Given the description of an element on the screen output the (x, y) to click on. 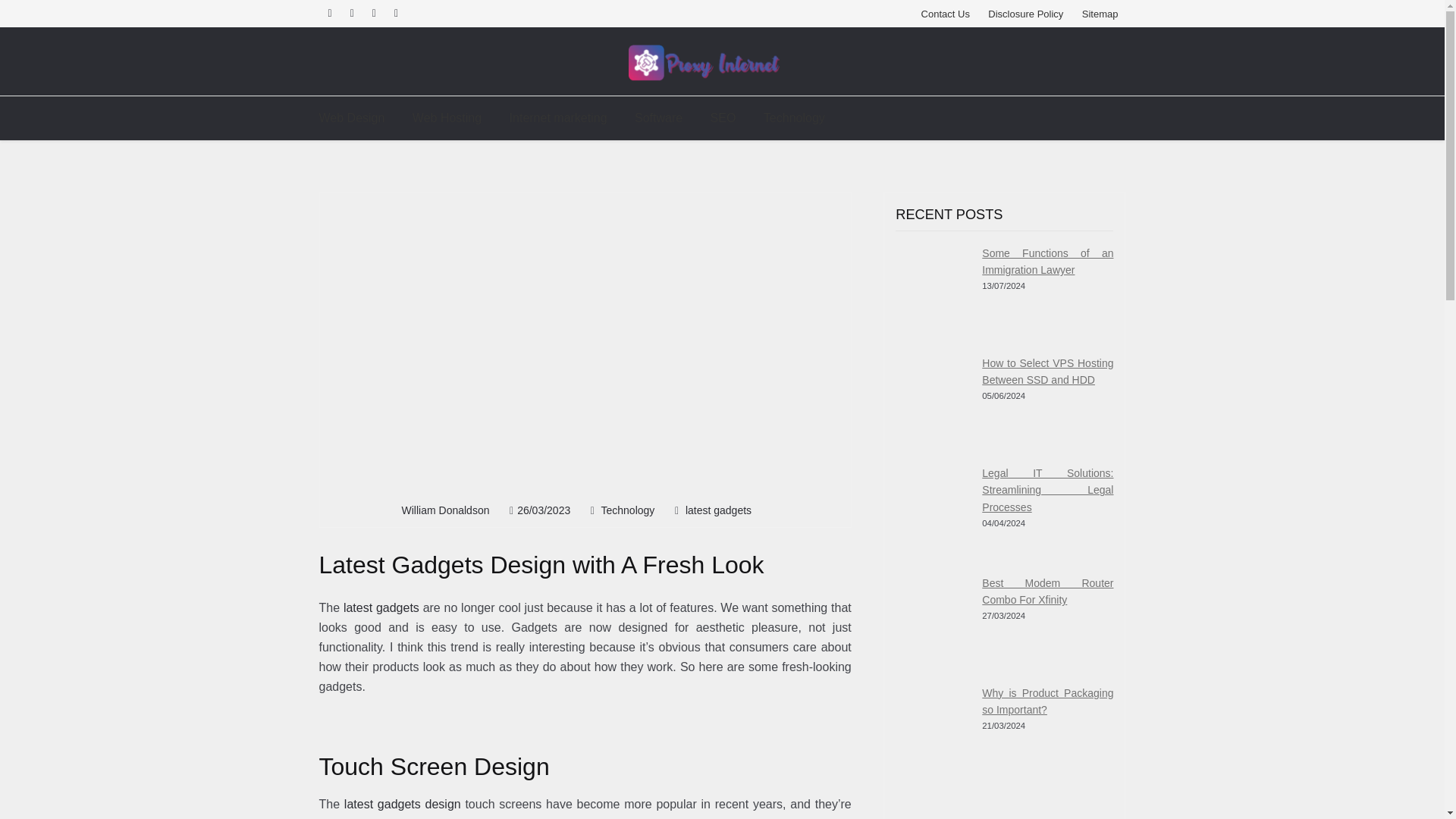
SEO (723, 118)
Legal IT Solutions: Streamlining Legal Processes (1047, 489)
Why is Product Packaging so Important? (1047, 701)
Best Modem Router Combo For Xfinity (1047, 591)
Technology (628, 510)
Software (658, 118)
William Donaldson (445, 510)
Why is Product Packaging so Important? (933, 722)
Internet marketing (558, 118)
Some Functions of an Immigration Lawyer (933, 282)
